Given the description of an element on the screen output the (x, y) to click on. 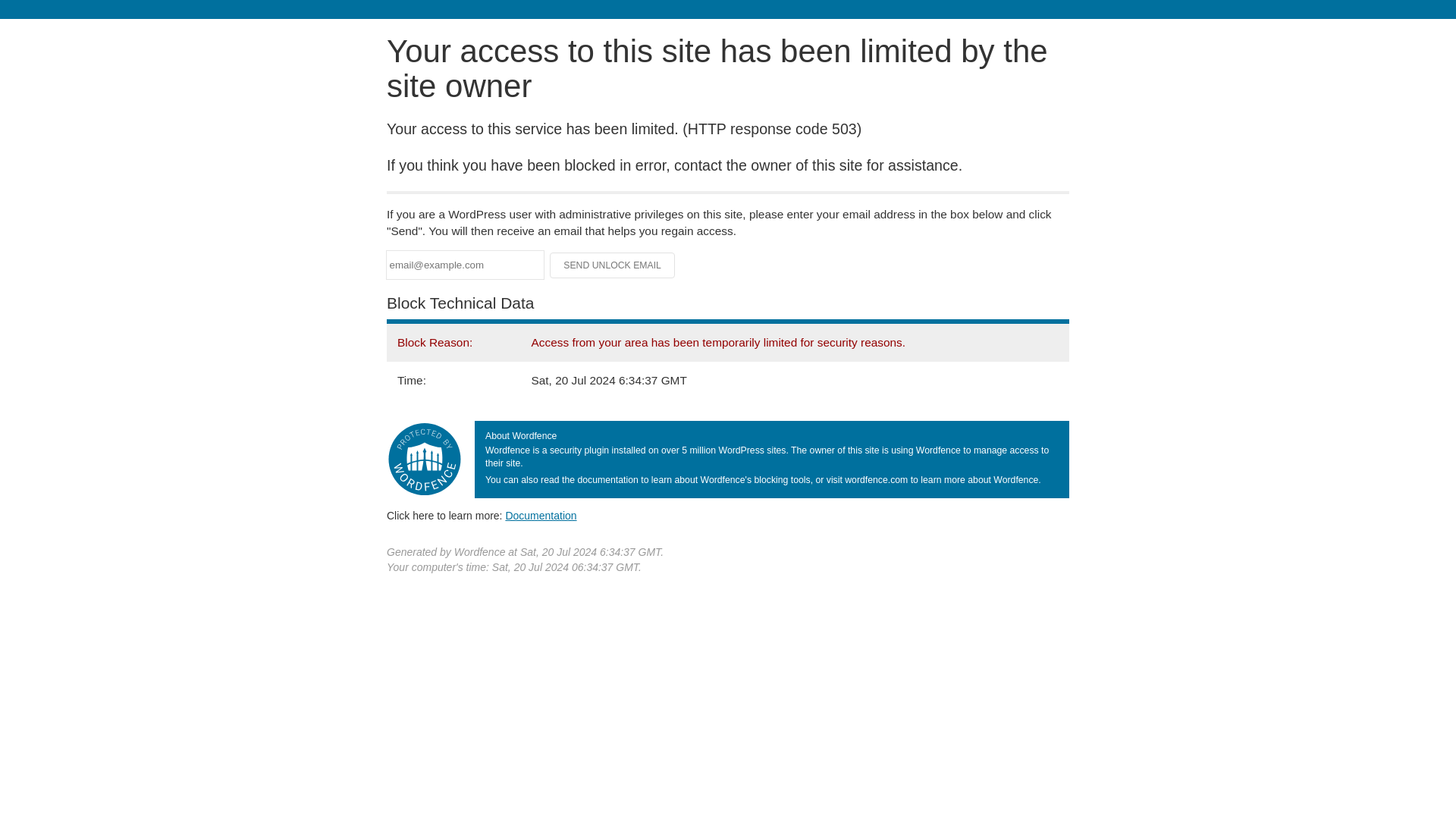
Send Unlock Email (612, 265)
Send Unlock Email (612, 265)
Documentation (540, 515)
